Given the description of an element on the screen output the (x, y) to click on. 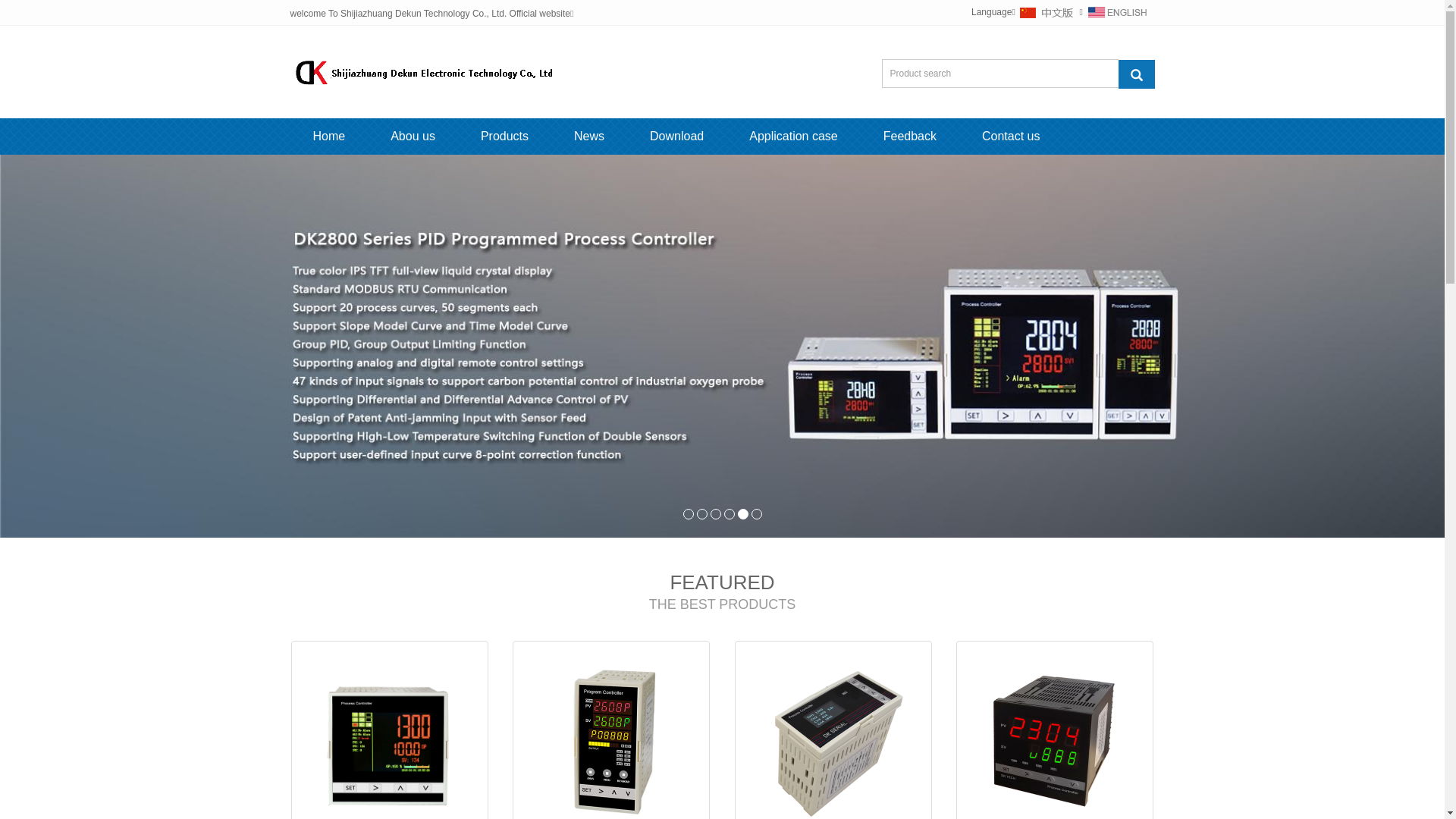
3 Element type: text (714, 513)
Abou us Element type: text (412, 136)
Download Element type: text (676, 136)
1 Element type: text (687, 513)
Home Element type: text (328, 136)
Application case Element type: text (793, 136)
Product search Element type: hover (1135, 73)
5 Element type: text (742, 513)
English Element type: hover (1116, 11)
Feedback Element type: text (909, 136)
4 Element type: text (728, 513)
News Element type: text (589, 136)
Contact us Element type: text (1010, 136)
2 Element type: text (701, 513)
6 Element type: text (755, 513)
Products Element type: text (504, 136)
